Given the description of an element on the screen output the (x, y) to click on. 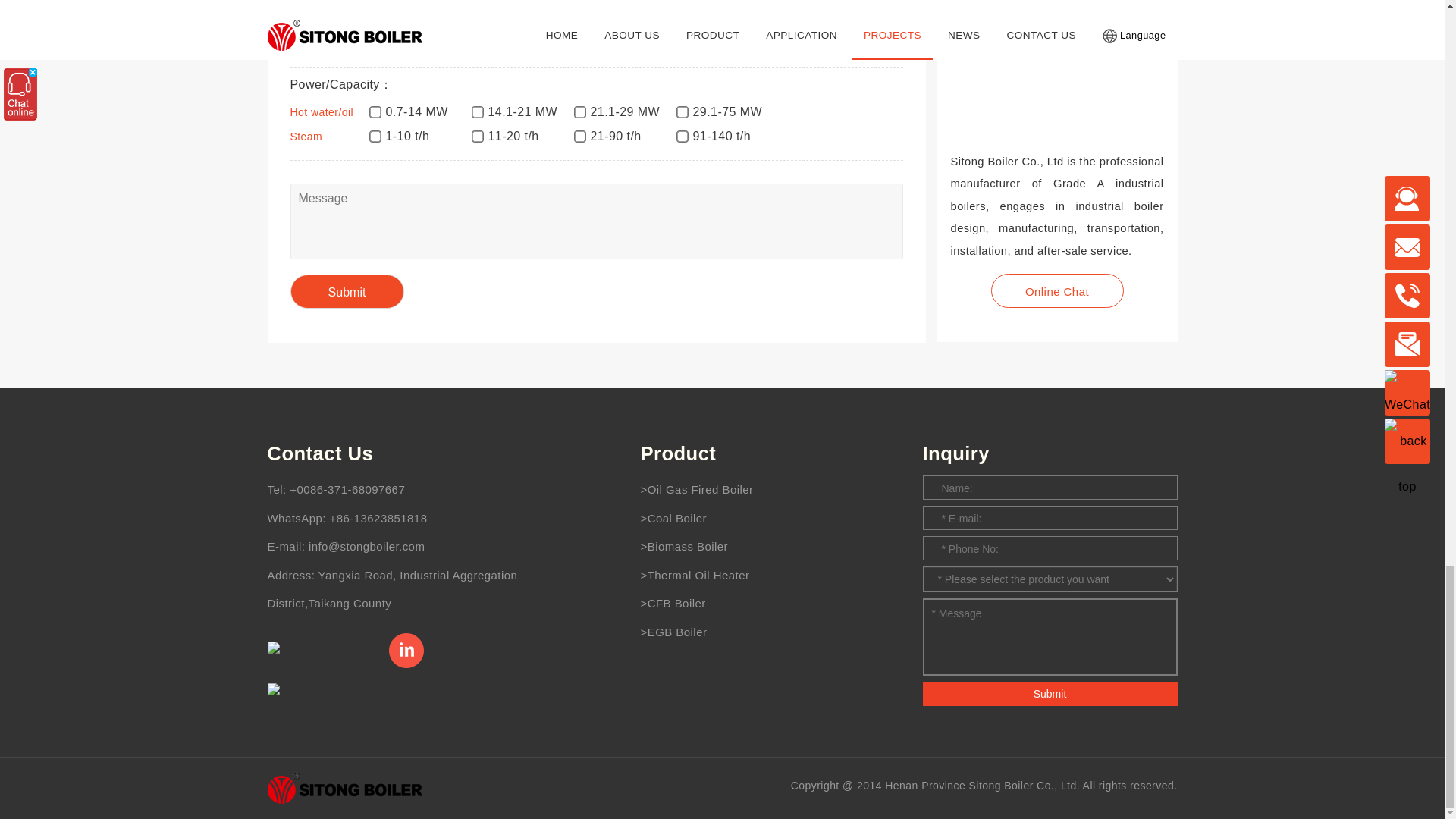
Click to contact us by whatsapp (403, 518)
Submit (346, 291)
